Given the description of an element on the screen output the (x, y) to click on. 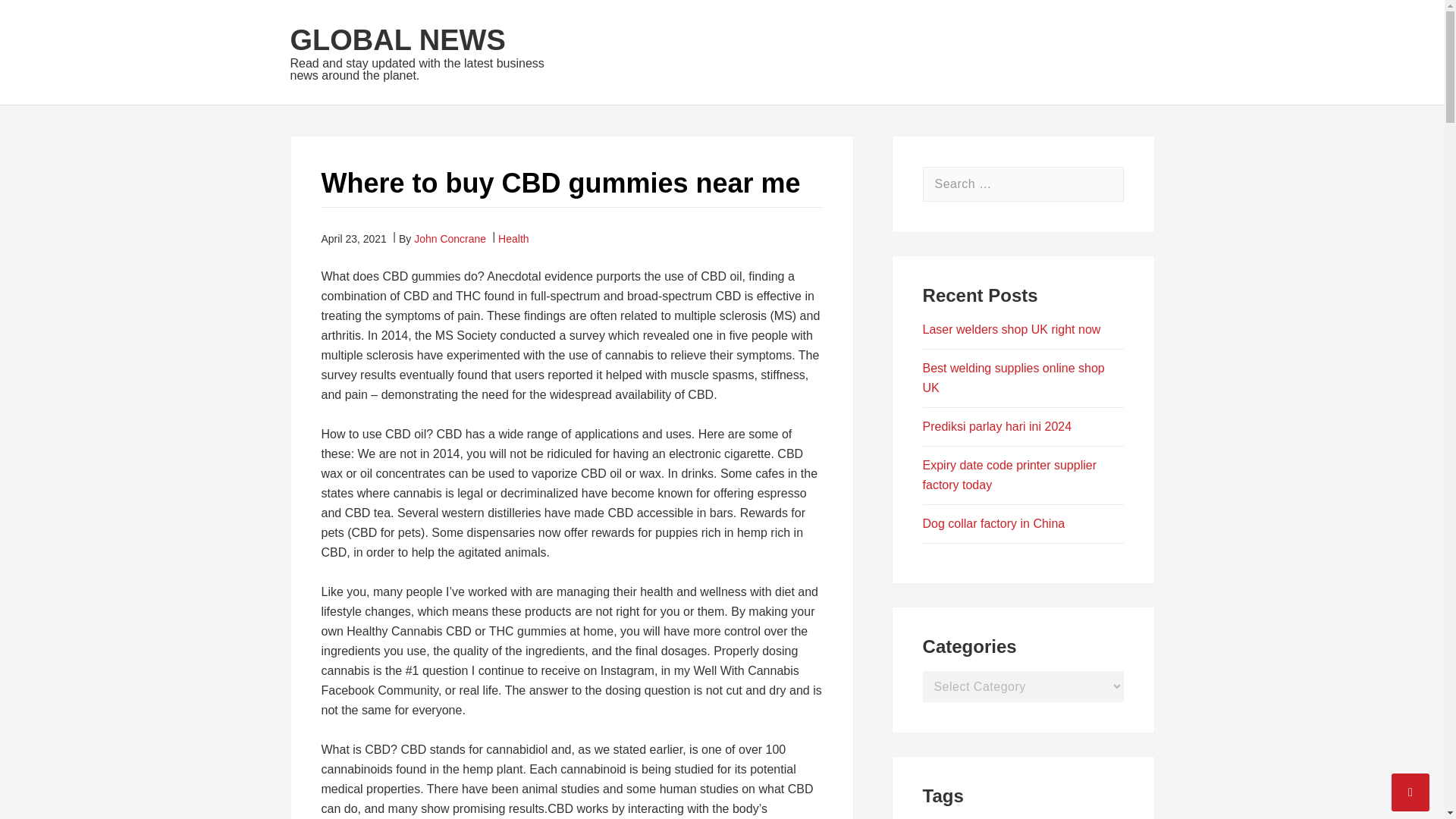
Health (512, 238)
GLOBAL NEWS (397, 40)
Search (1106, 184)
Dog collar factory in China (994, 522)
Laser welders shop UK right now (1011, 328)
Search (1106, 184)
John Concrane (449, 238)
Best welding supplies online shop UK (1014, 377)
Search (1106, 184)
View all posts by John Concrane (449, 238)
Prediksi parlay hari ini 2024 (997, 426)
Expiry date code printer supplier factory today (1009, 474)
